Given the description of an element on the screen output the (x, y) to click on. 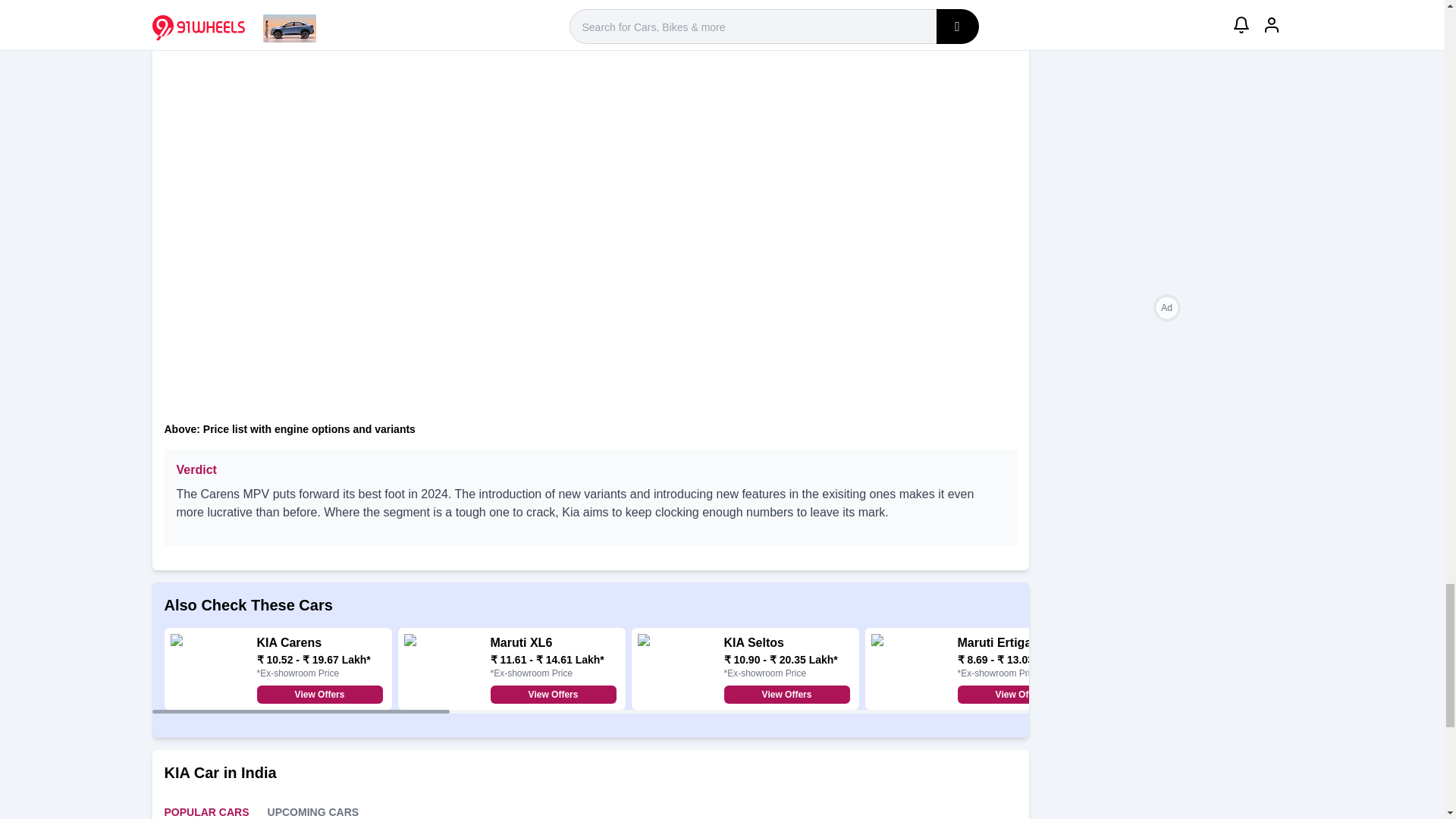
View Offers (318, 694)
View Offers (1253, 694)
Hyundai Alcazar (1237, 642)
View Offers (552, 694)
KIA Seltos (753, 642)
Maruti Ertiga (993, 642)
View Offers (785, 694)
Maruti XL6 (520, 642)
KIA Carens (288, 642)
View Offers (1019, 694)
